Given the description of an element on the screen output the (x, y) to click on. 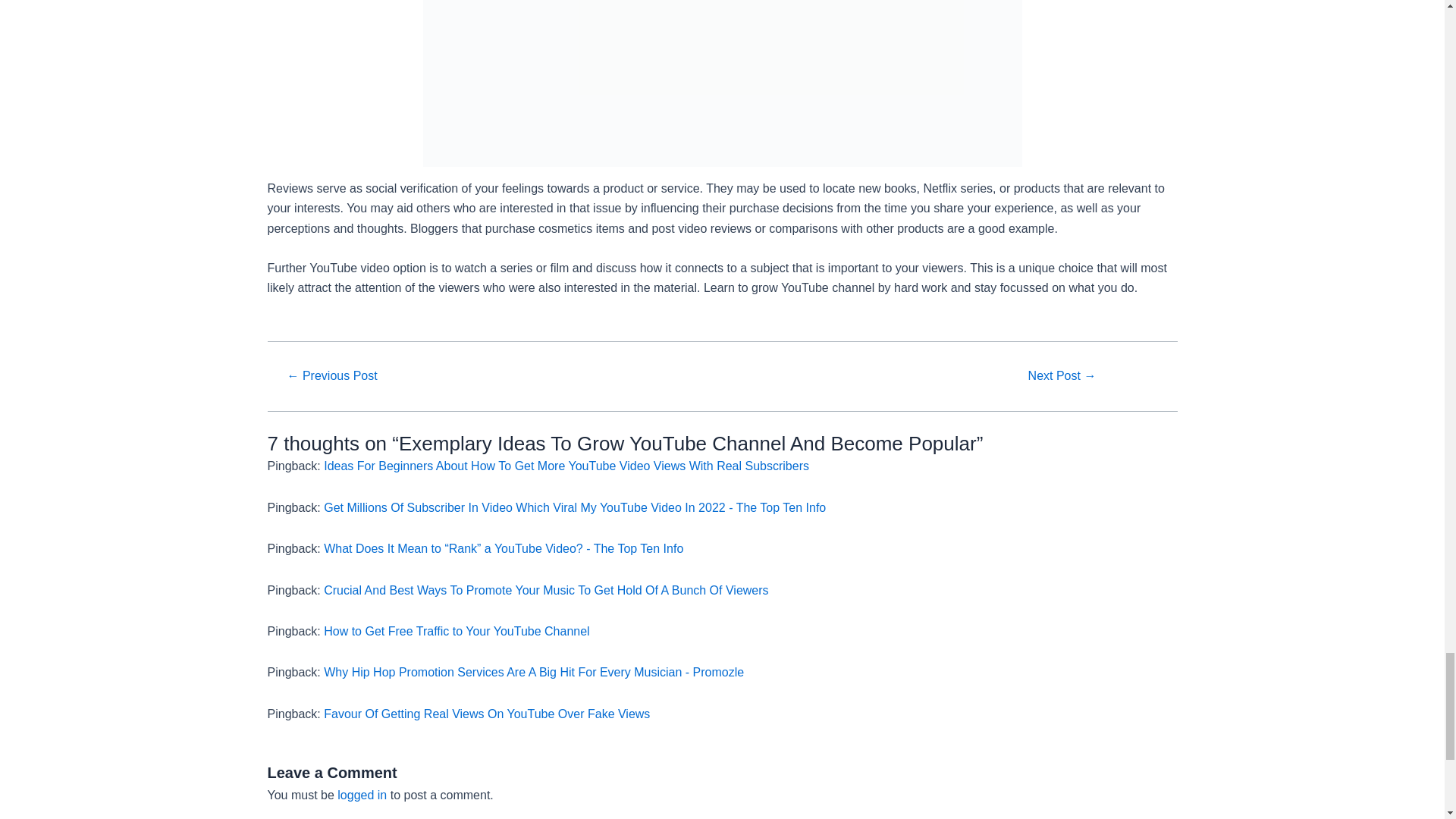
How to Get Free Traffic to Your YouTube Channel (456, 631)
Favour Of Getting Real Views On YouTube Over Fake Views (486, 713)
Reach Millions With The Advantage Of YouTube Video Promotion (1060, 376)
logged in (362, 794)
The Undiscovered Ways To Promote YouTube Video For Real Fans (330, 376)
